Given the description of an element on the screen output the (x, y) to click on. 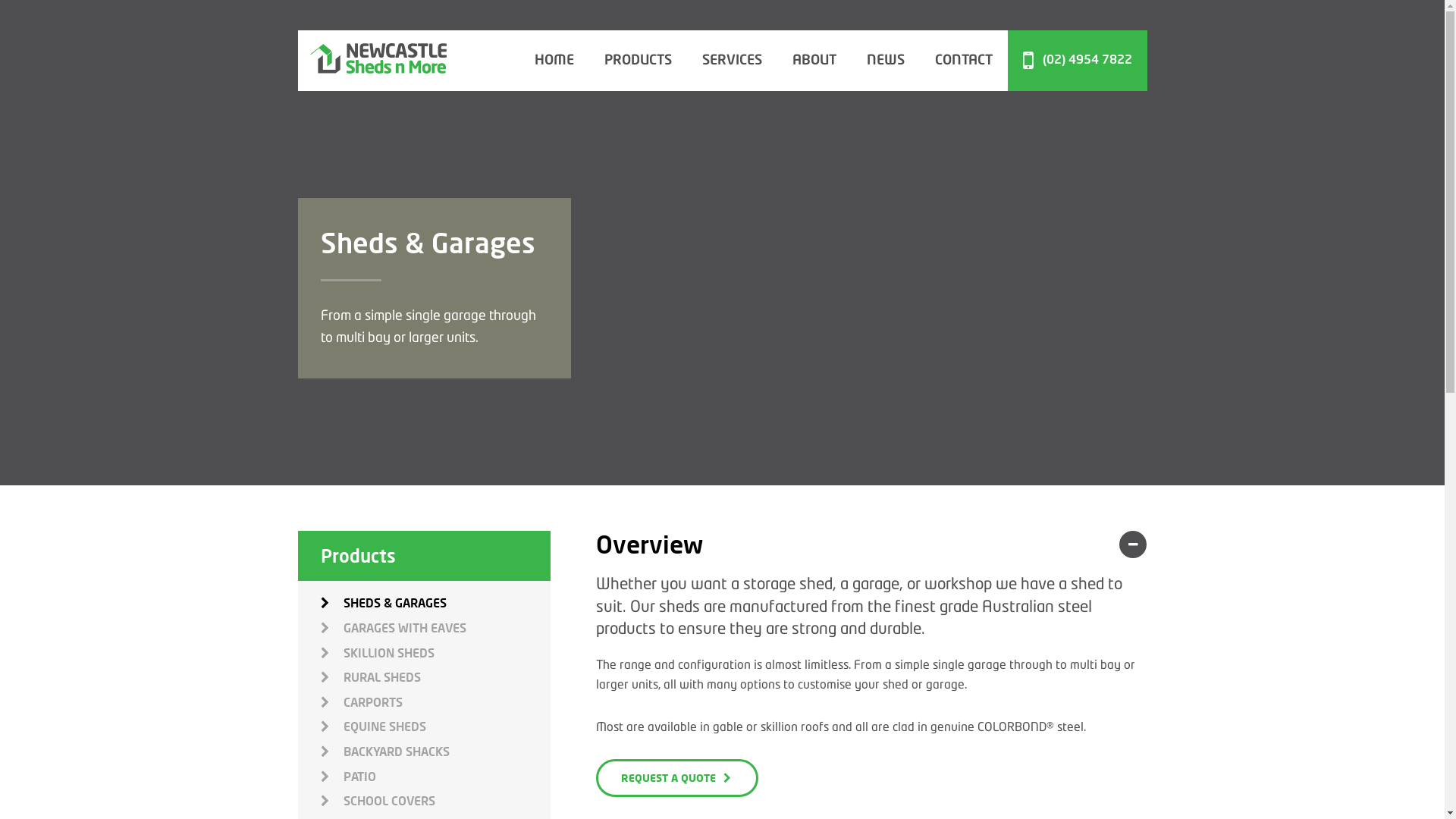
SKILLION SHEDS Element type: text (434, 652)
(02) 4954 7822 Element type: text (1076, 60)
CARPORTS Element type: text (434, 702)
PRODUCTS Element type: text (637, 60)
RURAL SHEDS Element type: text (434, 677)
BACKYARD SHACKS Element type: text (434, 751)
EQUINE SHEDS Element type: text (434, 726)
ABOUT Element type: text (813, 60)
GARAGES WITH EAVES Element type: text (434, 627)
SHEDS & GARAGES Element type: text (434, 602)
HOME Element type: text (553, 60)
SCHOOL COVERS Element type: text (434, 800)
SERVICES Element type: text (732, 60)
REQUEST A QUOTE Element type: text (677, 778)
NEWS Element type: text (884, 60)
PATIO Element type: text (434, 776)
CONTACT Element type: text (963, 60)
